Given the description of an element on the screen output the (x, y) to click on. 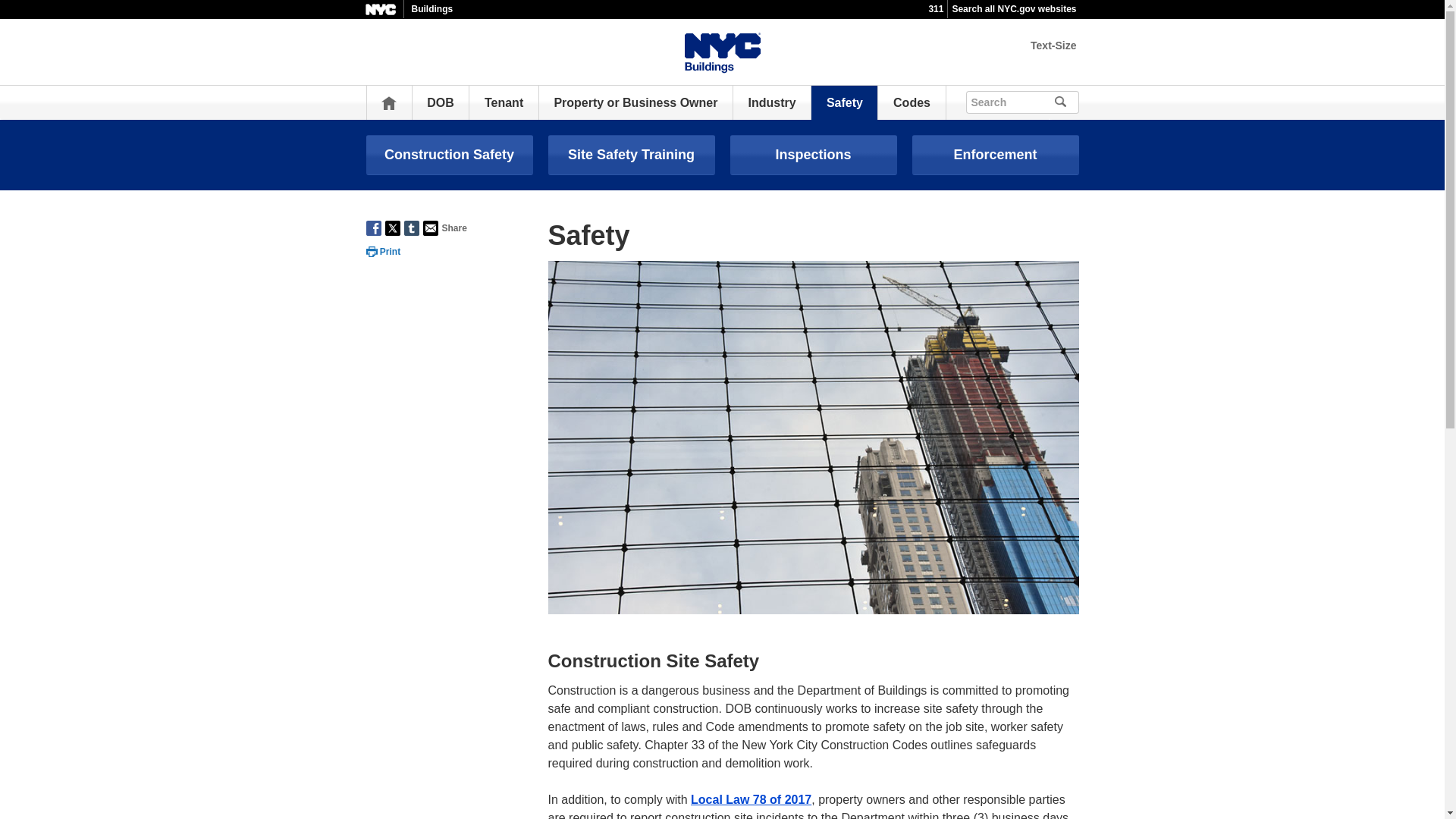
Property or Business Owner (635, 102)
Search all NYC.gov websites (1013, 9)
311 (935, 9)
search (1081, 100)
Inspections (812, 155)
Construction Safety (448, 155)
Codes (911, 102)
Tenant (503, 102)
search (1081, 100)
Text-Size (1052, 45)
Enforcement (994, 155)
Local Law 78 of 2017 (750, 799)
Site Safety Training (630, 155)
Safety (845, 102)
Industry (772, 102)
